Given the description of an element on the screen output the (x, y) to click on. 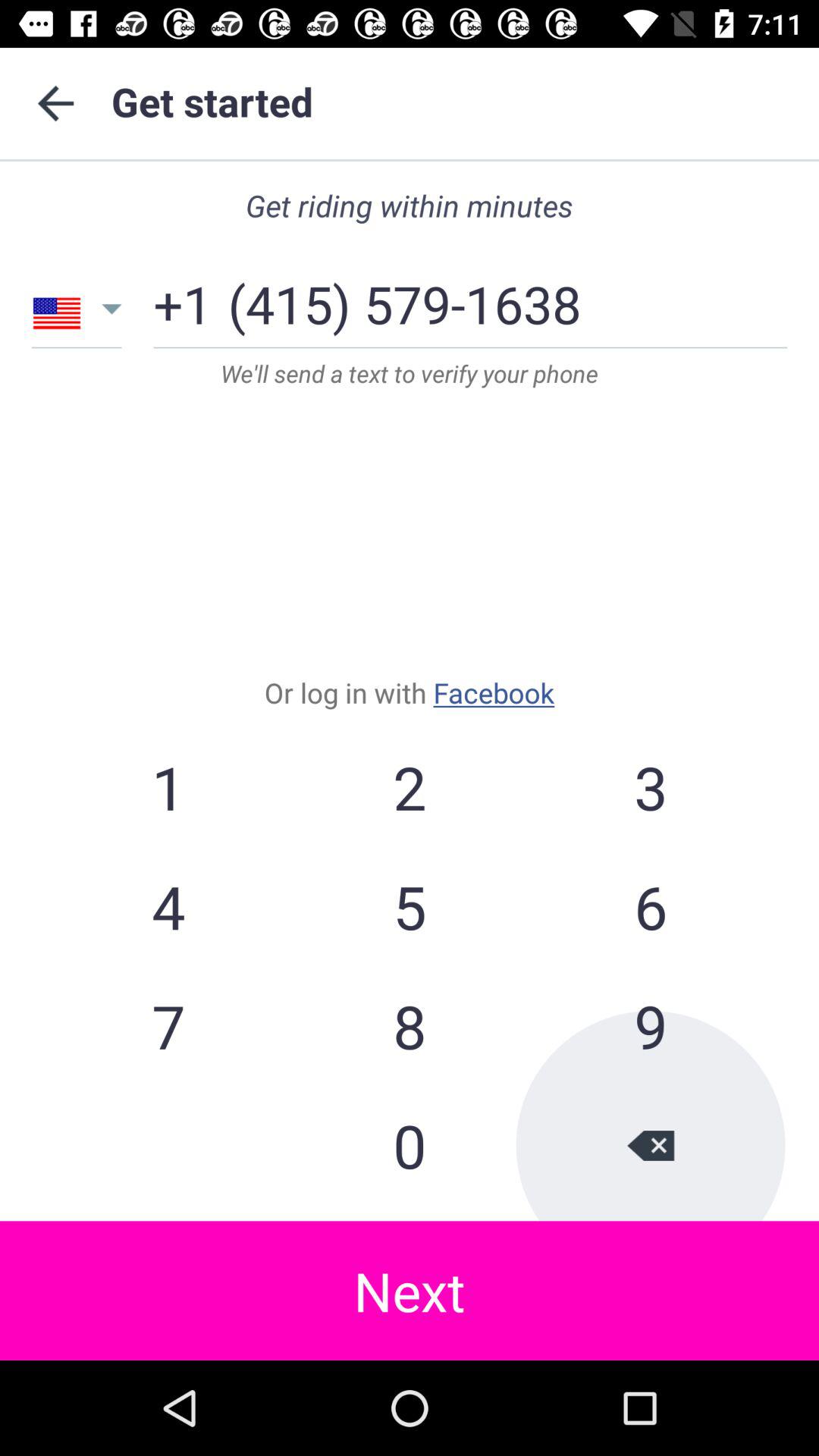
choose item next to 7 (409, 1145)
